Given the description of an element on the screen output the (x, y) to click on. 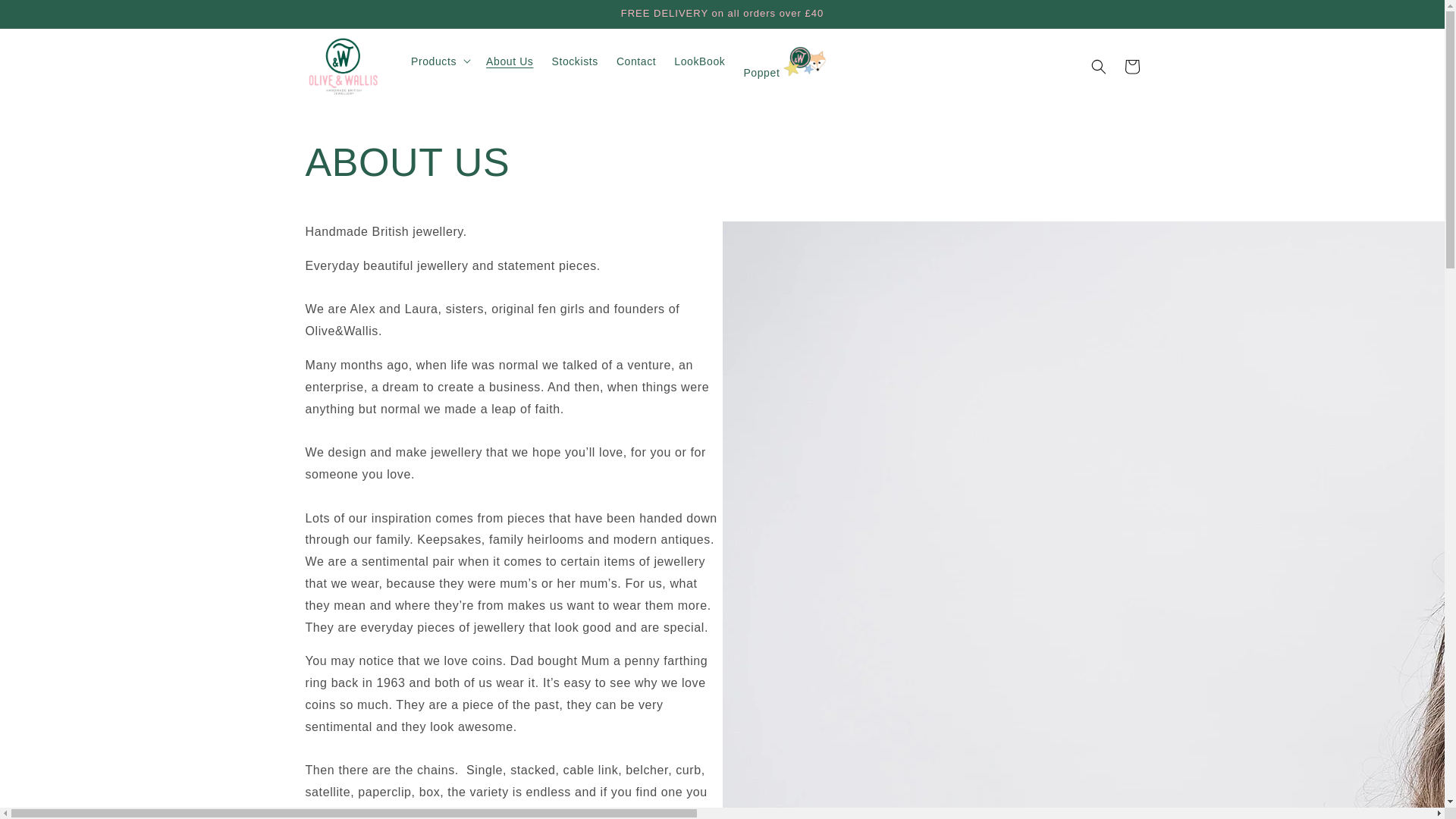
Skip to content (45, 17)
